Given the description of an element on the screen output the (x, y) to click on. 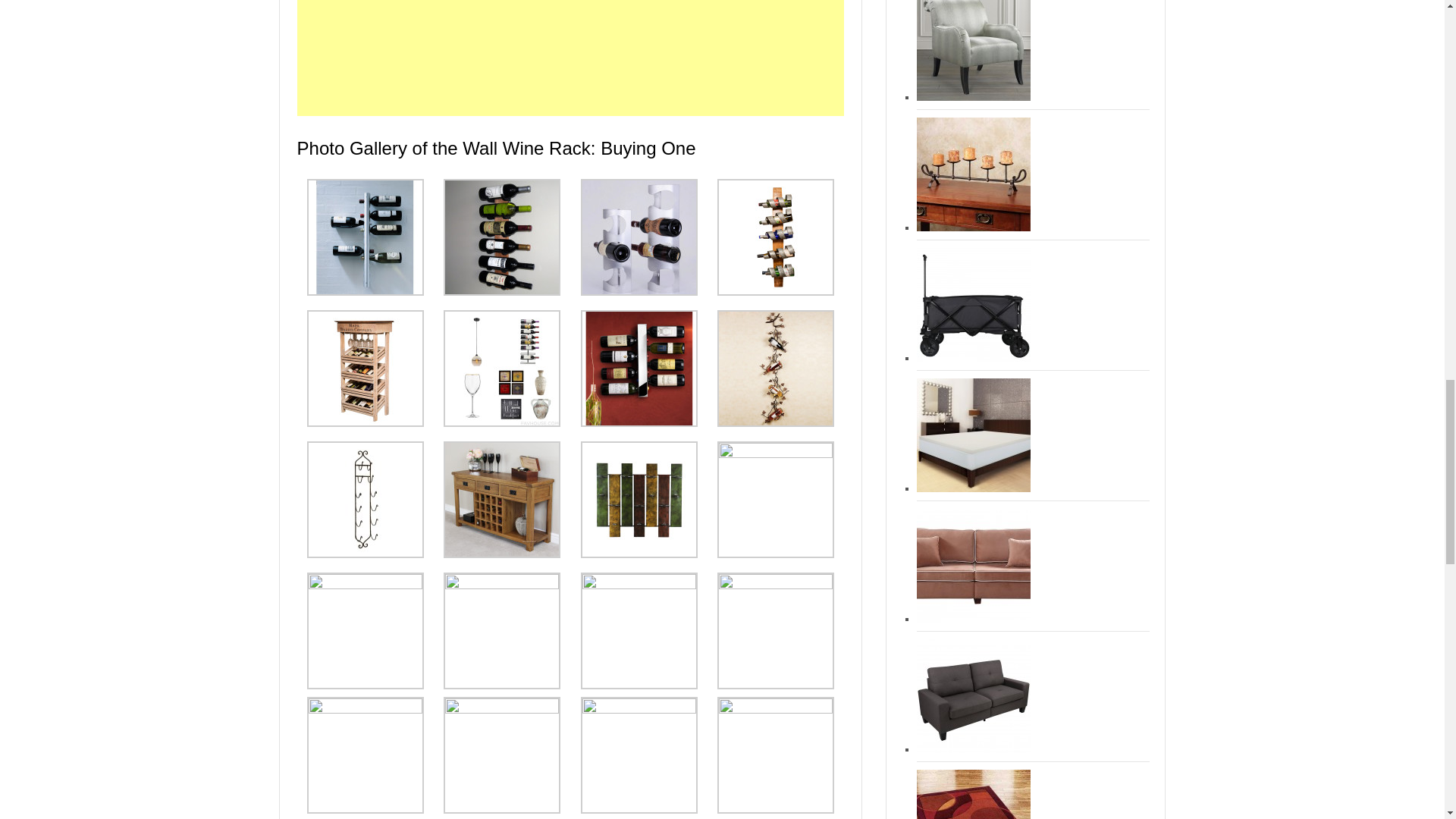
Utility Wagon Cart (973, 304)
Comfy Accent Chairs (973, 50)
Table Top Candelabra (973, 173)
